Given the description of an element on the screen output the (x, y) to click on. 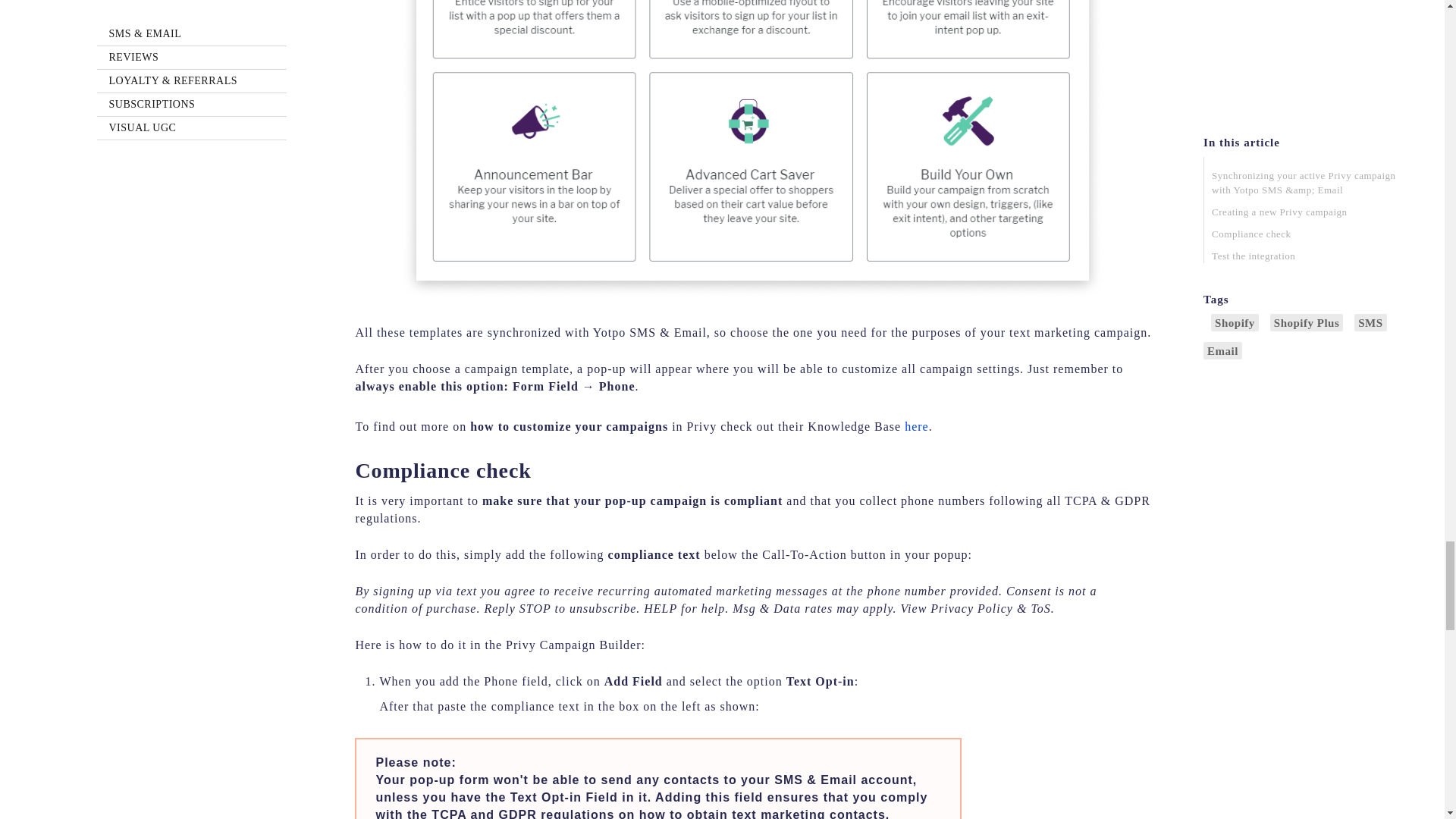
here (916, 426)
